Given the description of an element on the screen output the (x, y) to click on. 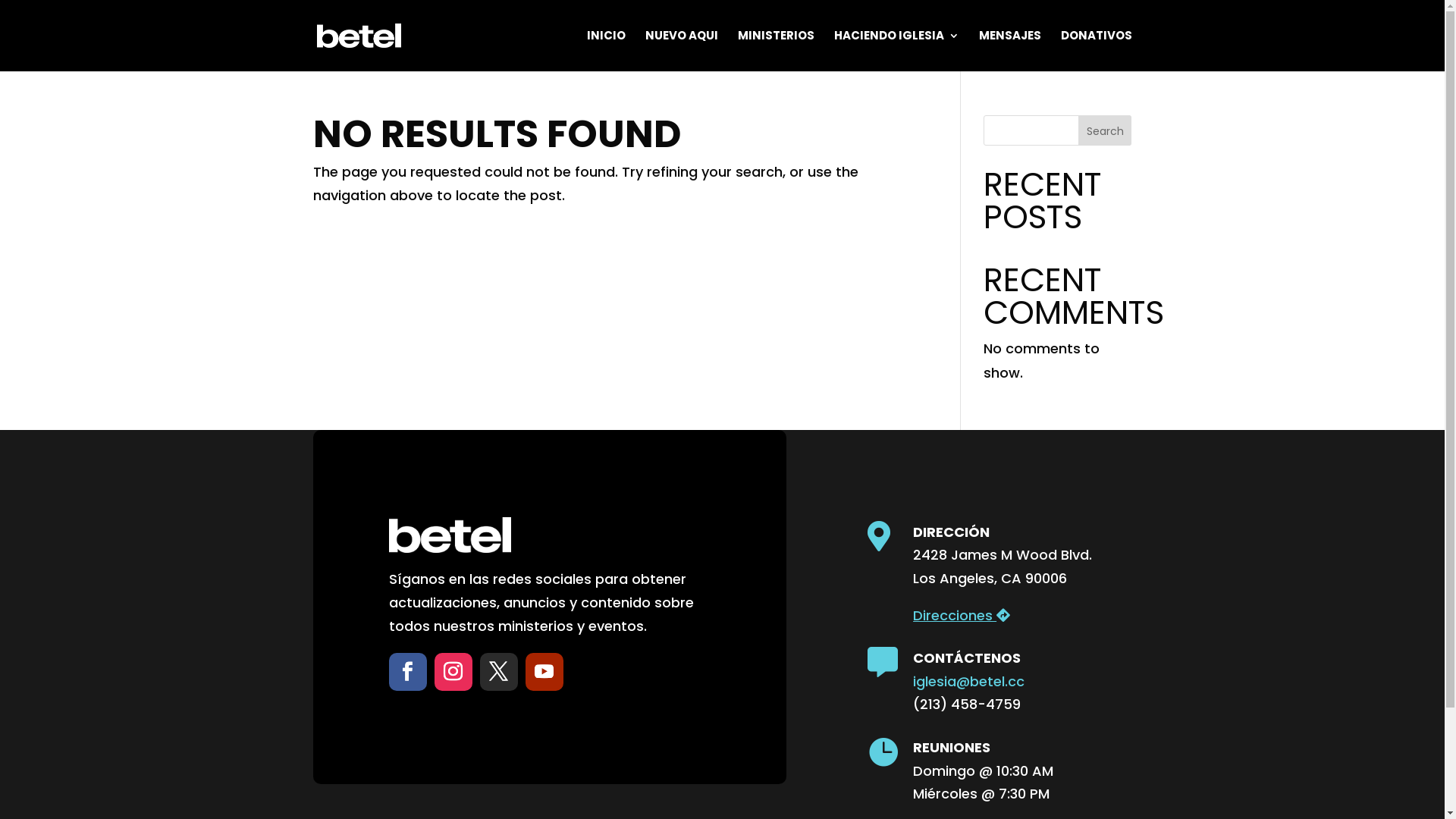
Follow on Youtube Element type: hover (543, 671)
iglesia@betel.cc Element type: text (968, 680)
NUEVO AQUI Element type: text (680, 50)
Follow on Instagram Element type: hover (452, 671)
Search Element type: text (1105, 130)
MINISTERIOS Element type: text (775, 50)
Direcciones Element type: text (961, 614)
DONATIVOS Element type: text (1095, 50)
betel_logo_white Element type: hover (449, 534)
INICIO Element type: text (605, 50)
MENSAJES Element type: text (1009, 50)
Follow on Facebook Element type: hover (407, 671)
HACIENDO IGLESIA Element type: text (896, 50)
Follow on X Element type: hover (498, 671)
